Given the description of an element on the screen output the (x, y) to click on. 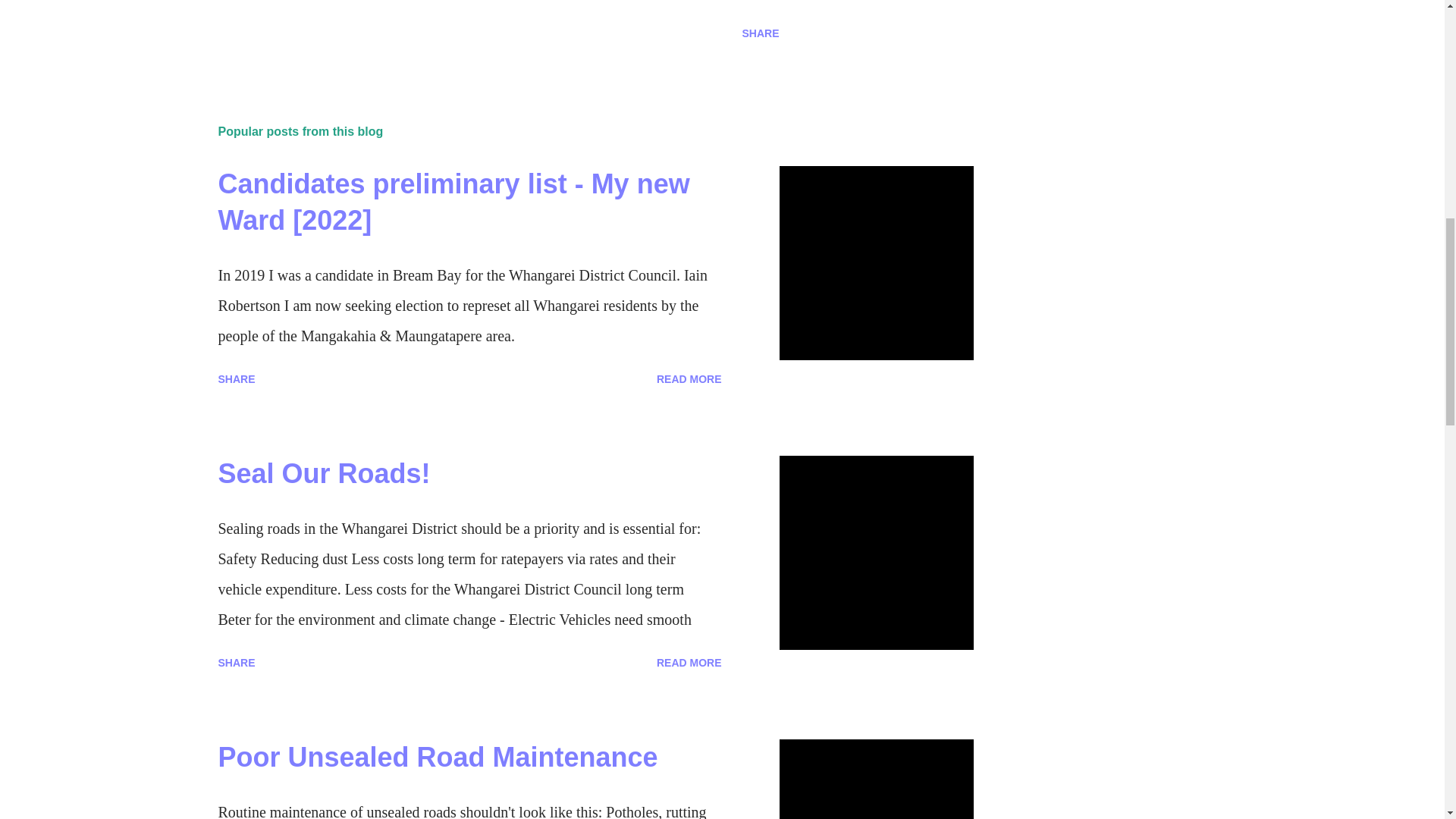
Email Post (226, 33)
Poor Unsealed Road Maintenance (438, 757)
SHARE (759, 33)
READ MORE (689, 662)
Seal Our Roads! (324, 472)
READ MORE (689, 378)
SHARE (237, 662)
SHARE (237, 378)
